Given the description of an element on the screen output the (x, y) to click on. 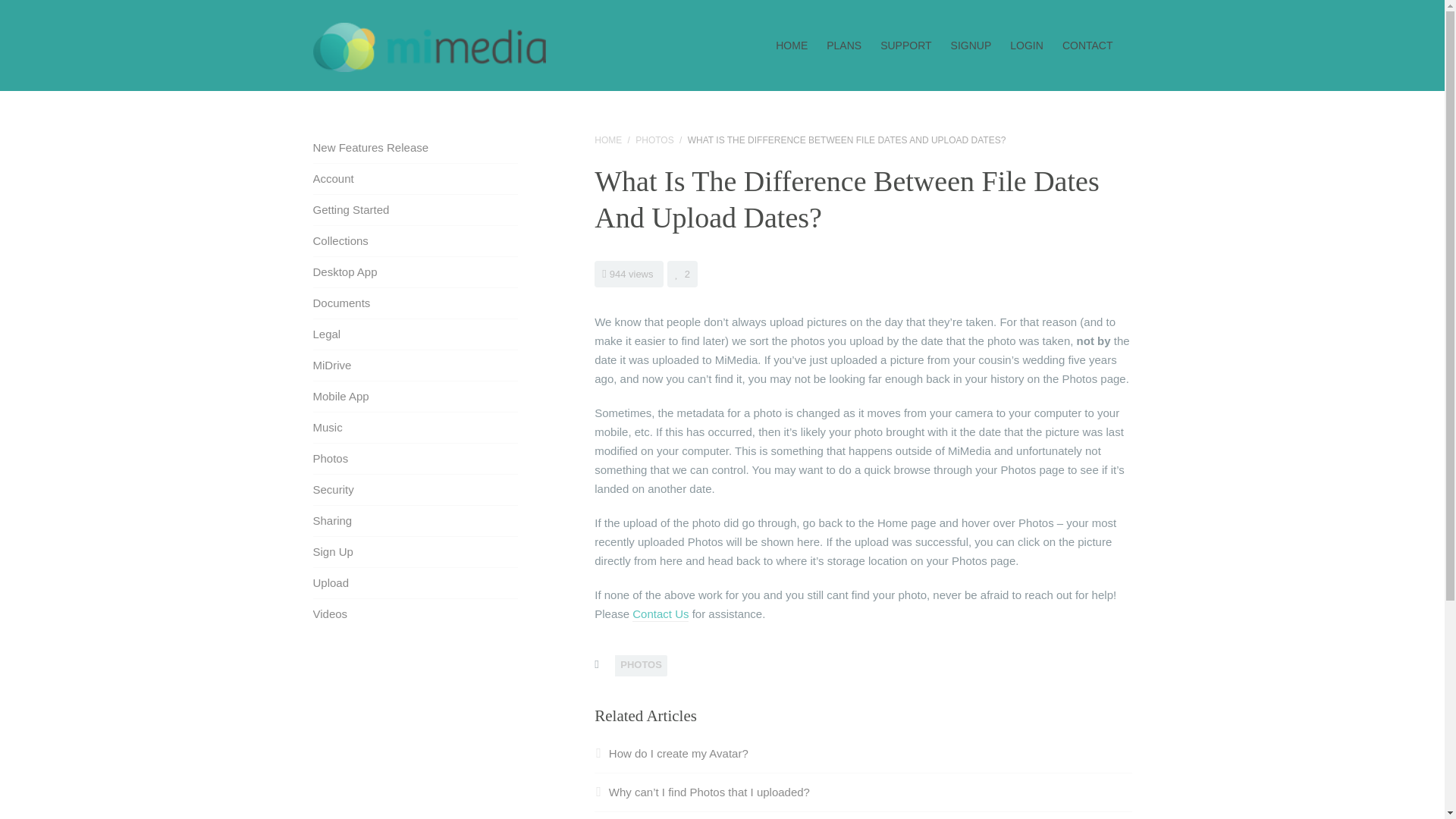
MiDrive (331, 364)
Mobile App (340, 395)
Getting Started (350, 209)
Contact Us (659, 614)
How do I create my Avatar? (671, 753)
New Features Release (370, 146)
PHOTOS (653, 140)
Photos (330, 458)
Collections (340, 240)
Upload (331, 582)
Account (333, 178)
Security (333, 489)
Documents (341, 302)
HOME (607, 140)
Sharing (332, 520)
